Given the description of an element on the screen output the (x, y) to click on. 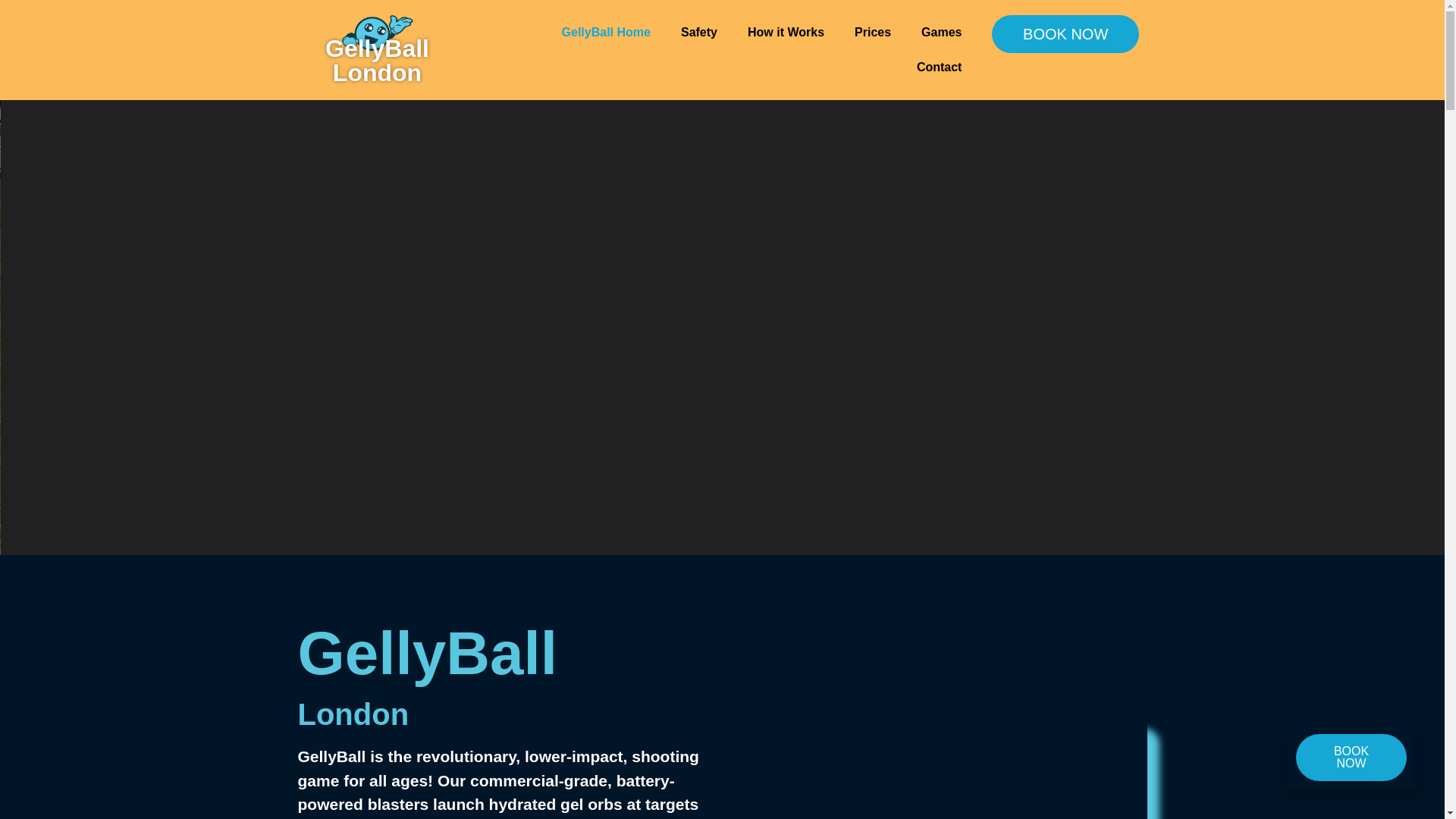
GellyBall Home (606, 32)
BOOK NOW (1350, 757)
Prices (872, 32)
BOOK NOW (1064, 34)
How it Works (786, 32)
Contact (938, 67)
Safety (698, 32)
GellyBall London (376, 60)
Games (940, 32)
